Given the description of an element on the screen output the (x, y) to click on. 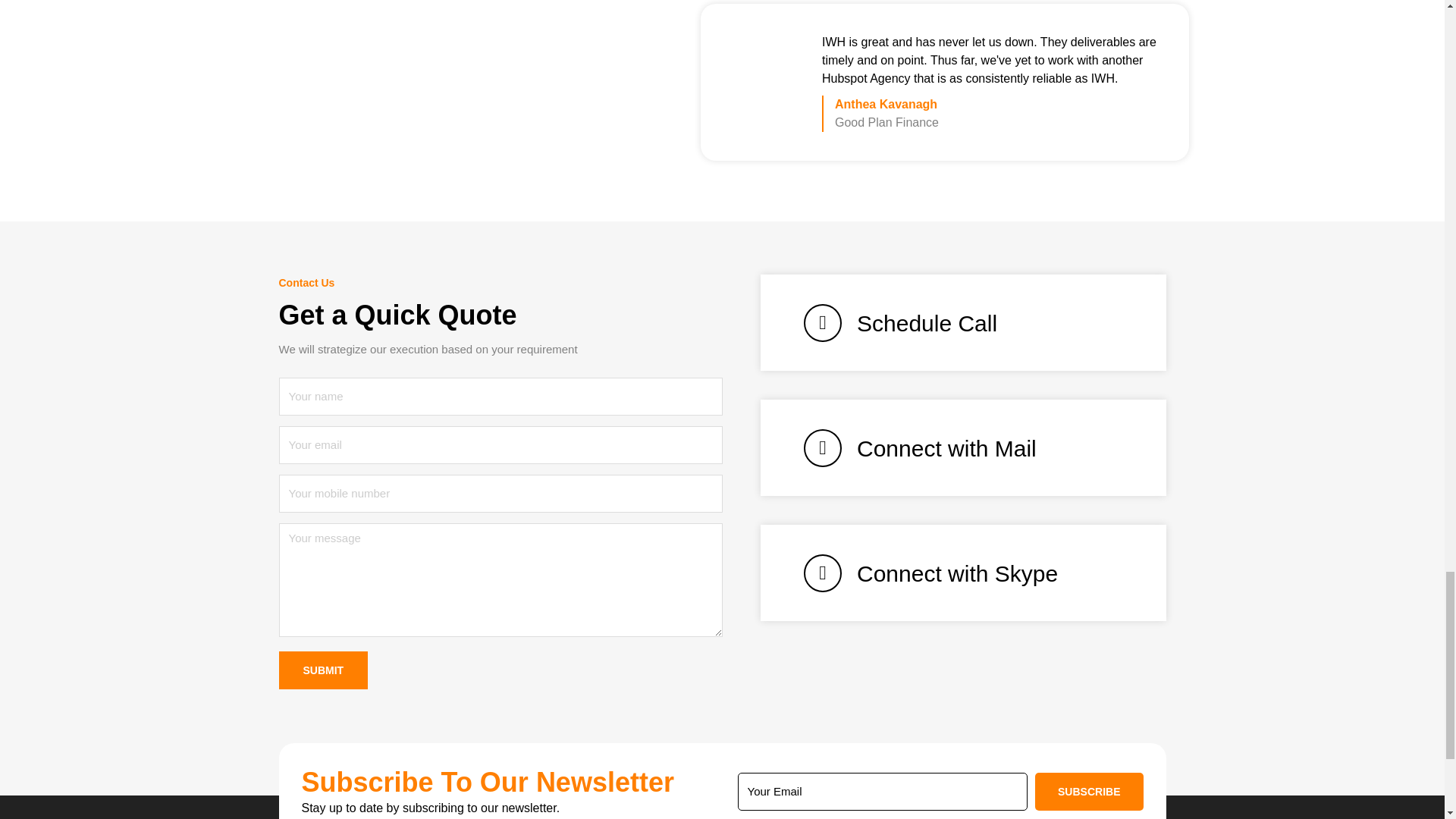
Schedule Call (963, 322)
Connect with Mail (963, 447)
Subscribe (1088, 791)
Submit (323, 670)
Submit (323, 670)
